Given the description of an element on the screen output the (x, y) to click on. 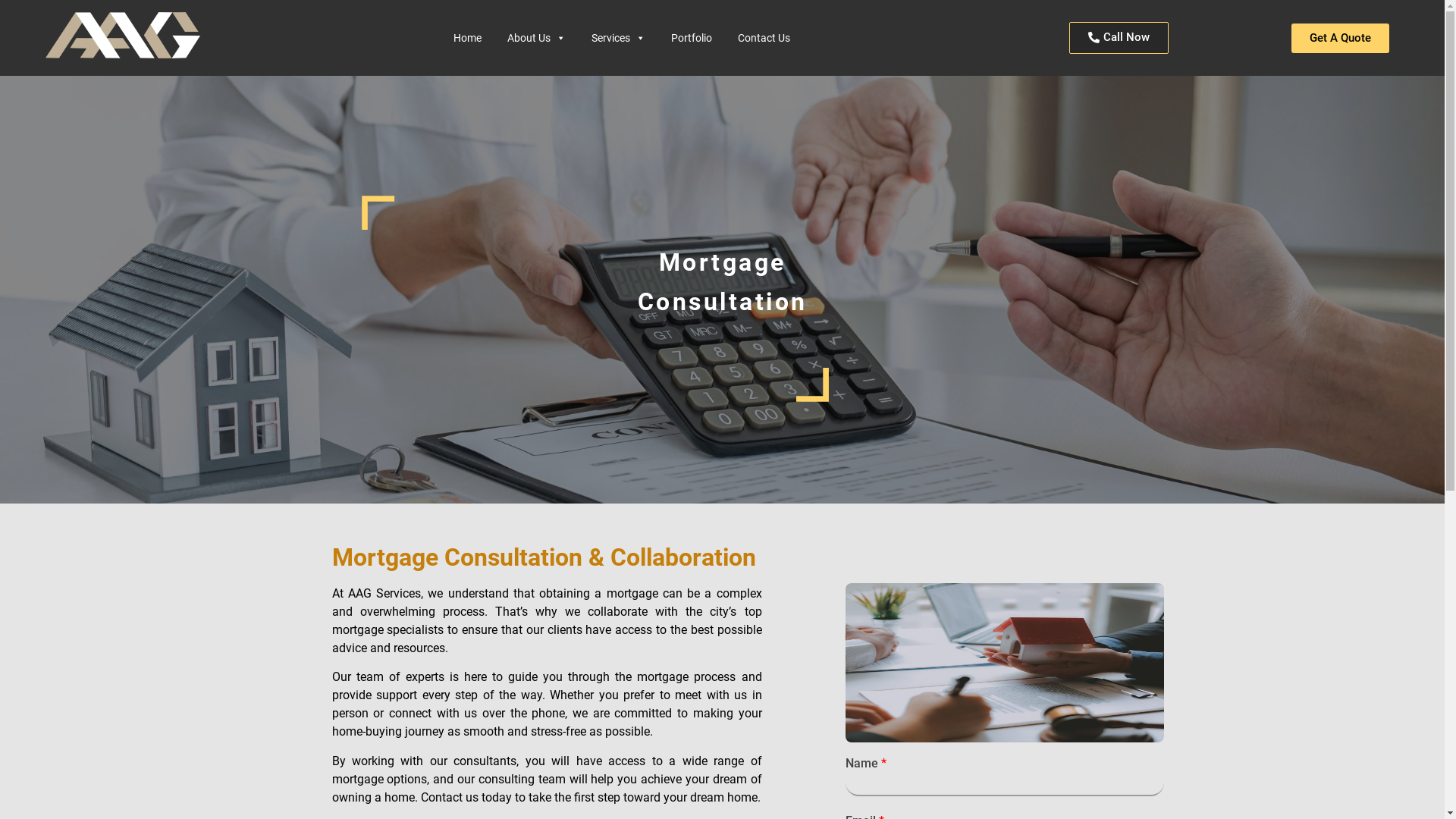
Services Element type: text (617, 37)
About Us Element type: text (536, 37)
Call Now Element type: text (1118, 37)
Home Element type: text (467, 37)
Portfolio Element type: text (691, 37)
Contact Us Element type: text (763, 37)
Get A Quote Element type: text (1340, 37)
